Given the description of an element on the screen output the (x, y) to click on. 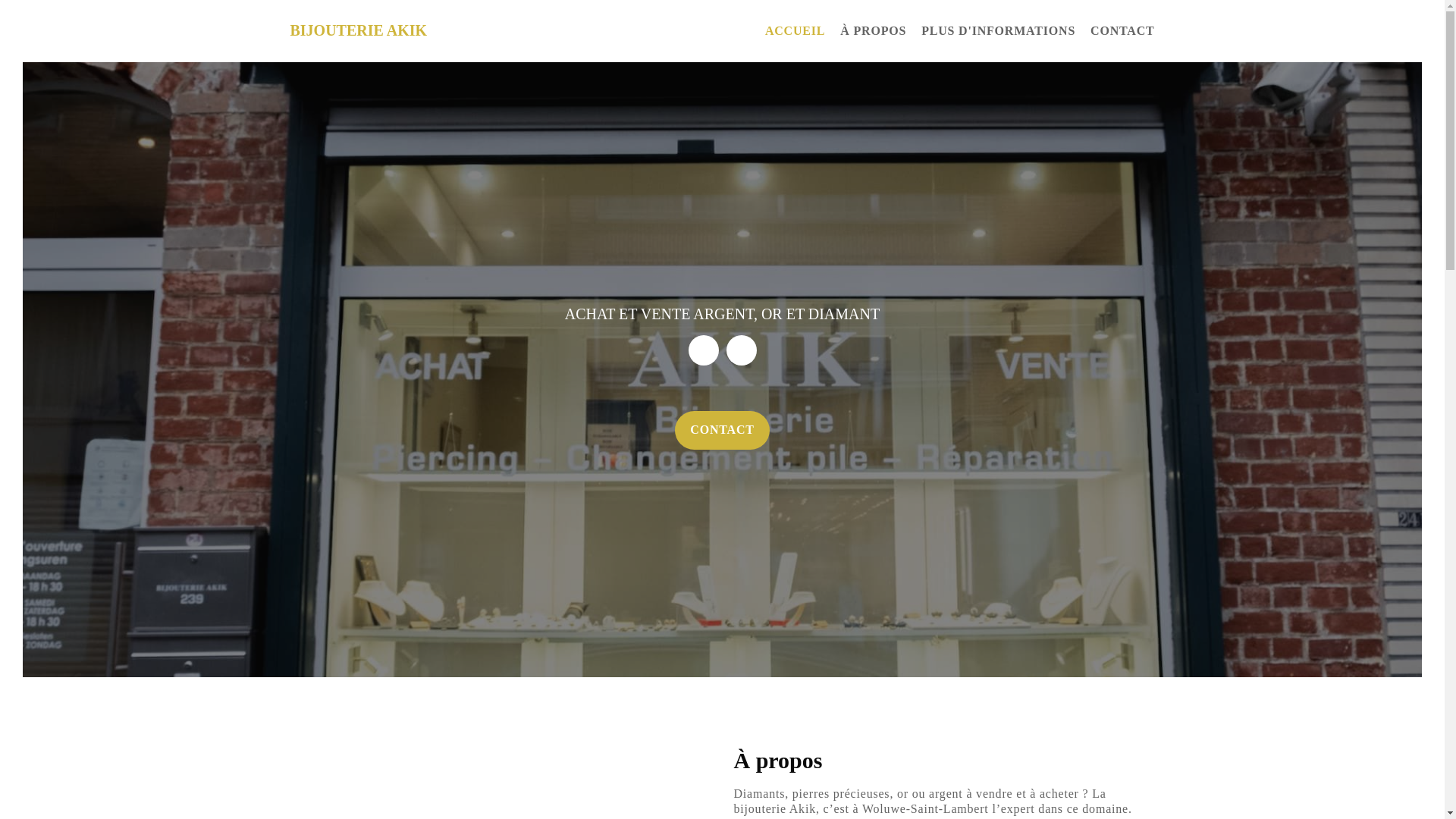
CONTACT Element type: text (721, 430)
Instagram Element type: hover (741, 350)
PLUS D'INFORMATIONS Element type: text (990, 30)
Facebook Element type: hover (703, 350)
ACCUEIL Element type: text (787, 30)
CONTACT Element type: text (1114, 30)
